Given the description of an element on the screen output the (x, y) to click on. 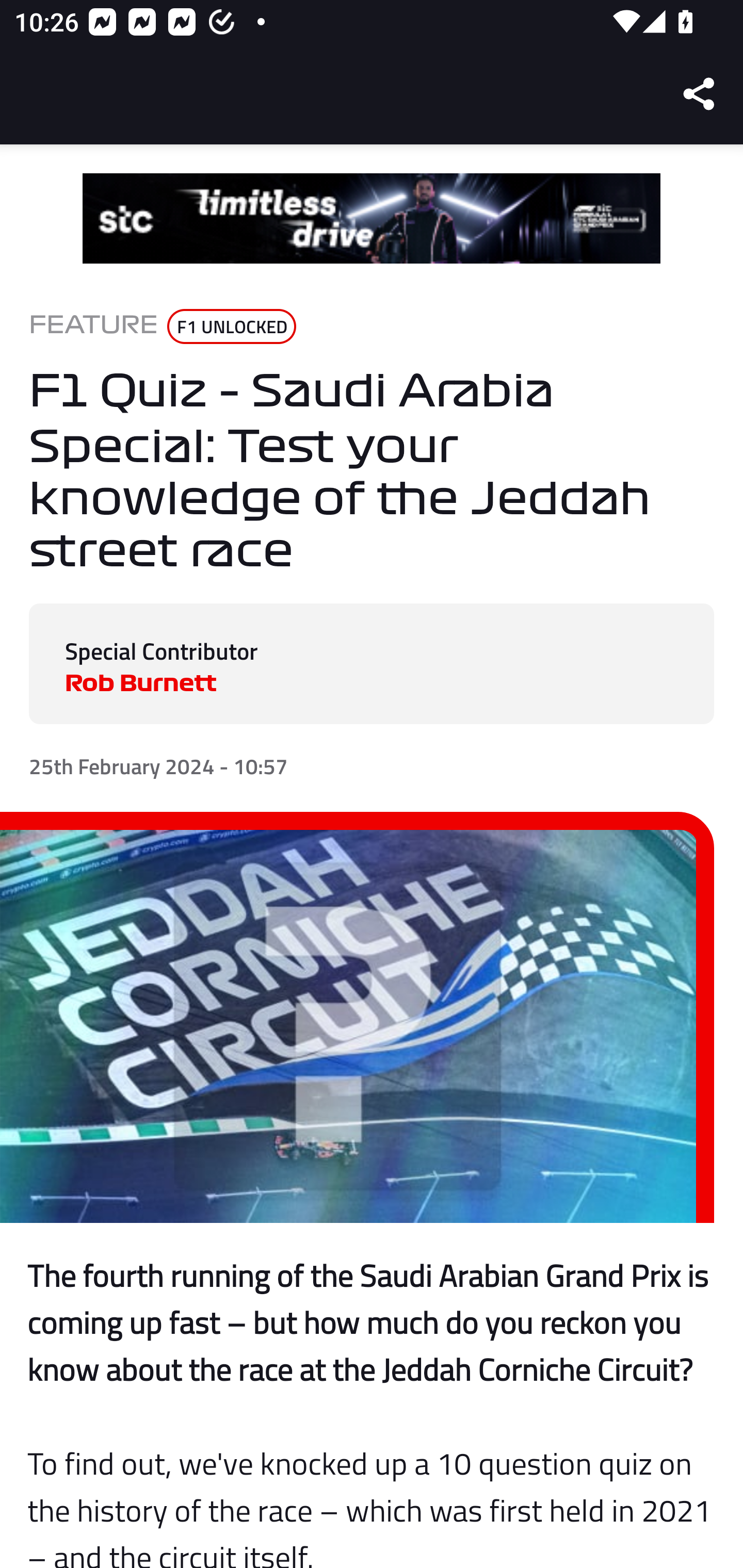
Share (699, 93)
who-we-are (371, 218)
